Given the description of an element on the screen output the (x, y) to click on. 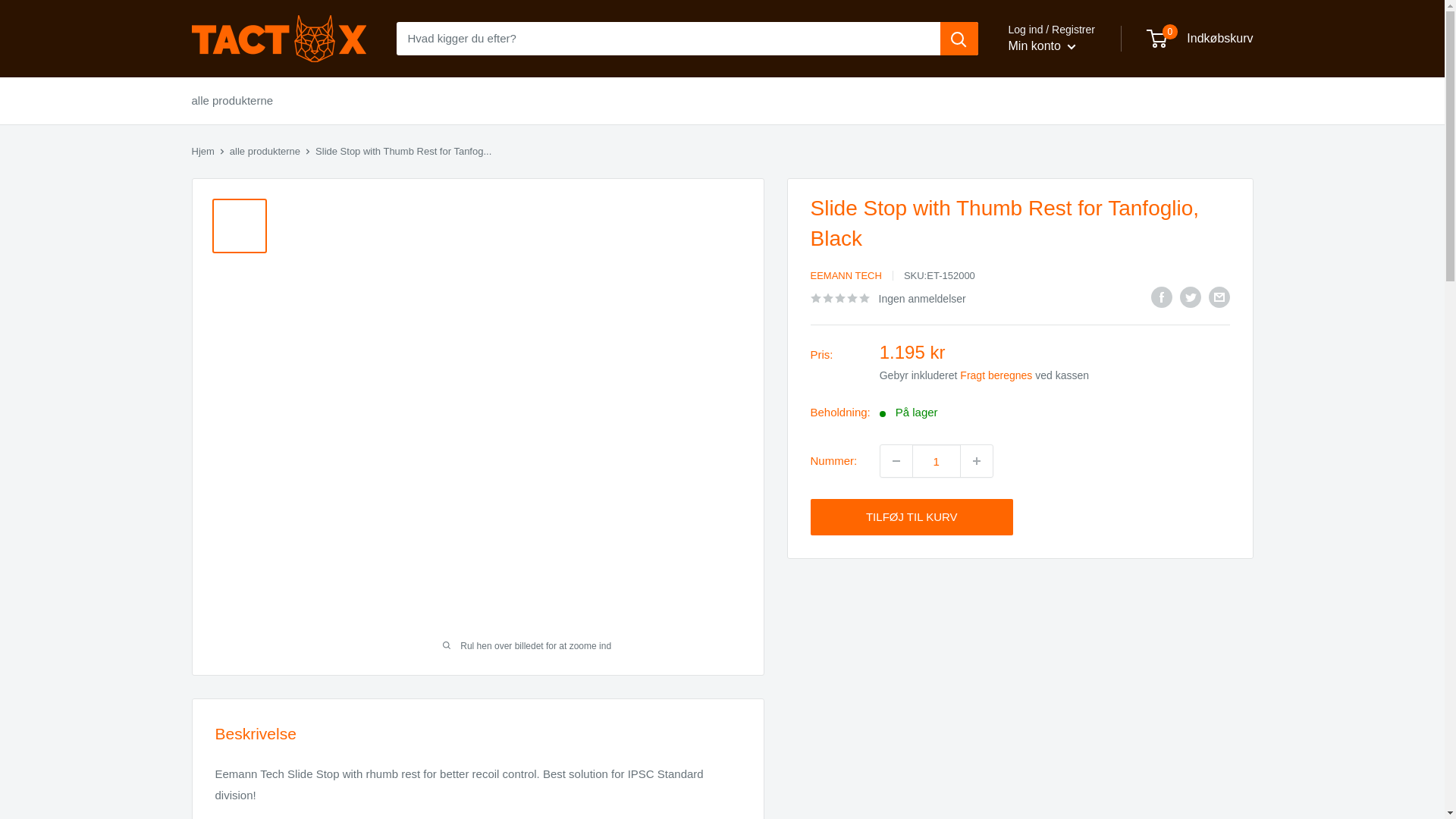
alle produkterne (231, 100)
Min konto (1043, 46)
alle produkterne (264, 151)
EEMANN TECH (844, 275)
Fragt beregnes (995, 375)
TactX (277, 38)
Ingen anmeldelser (887, 297)
Hjem (202, 151)
1 (936, 460)
